Given the description of an element on the screen output the (x, y) to click on. 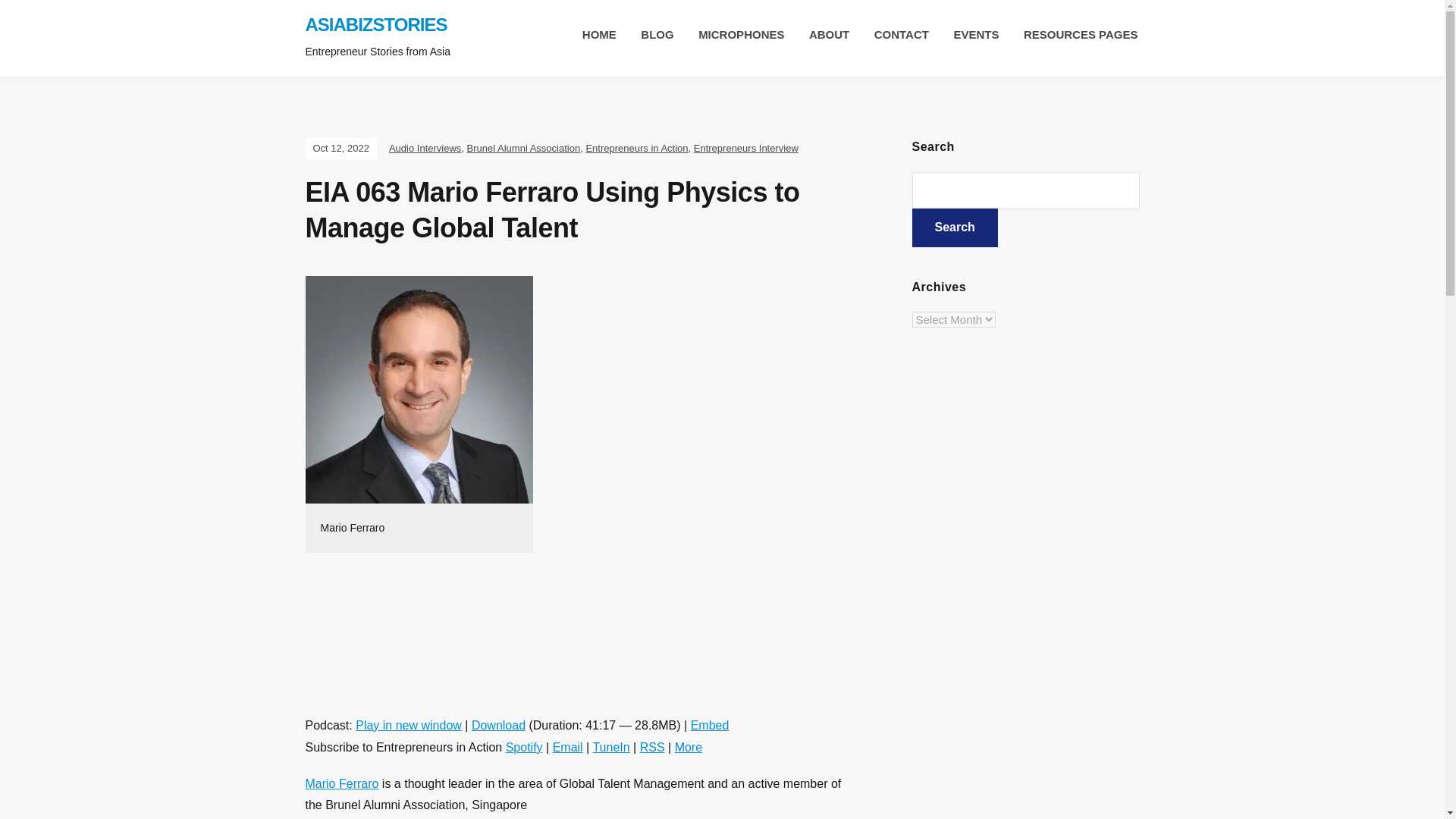
Entrepreneurs Interview (745, 147)
Play in new window (408, 725)
Subscribe on Spotify (524, 747)
BLOG (657, 34)
EVENTS (976, 34)
Download (498, 725)
ABOUT (829, 34)
Download (498, 725)
Brunel Alumni Association (523, 147)
More (688, 747)
Entrepreneurs in Action (636, 147)
Search (954, 227)
Embed (709, 725)
Audio Interviews (424, 147)
HOME (598, 34)
